Given the description of an element on the screen output the (x, y) to click on. 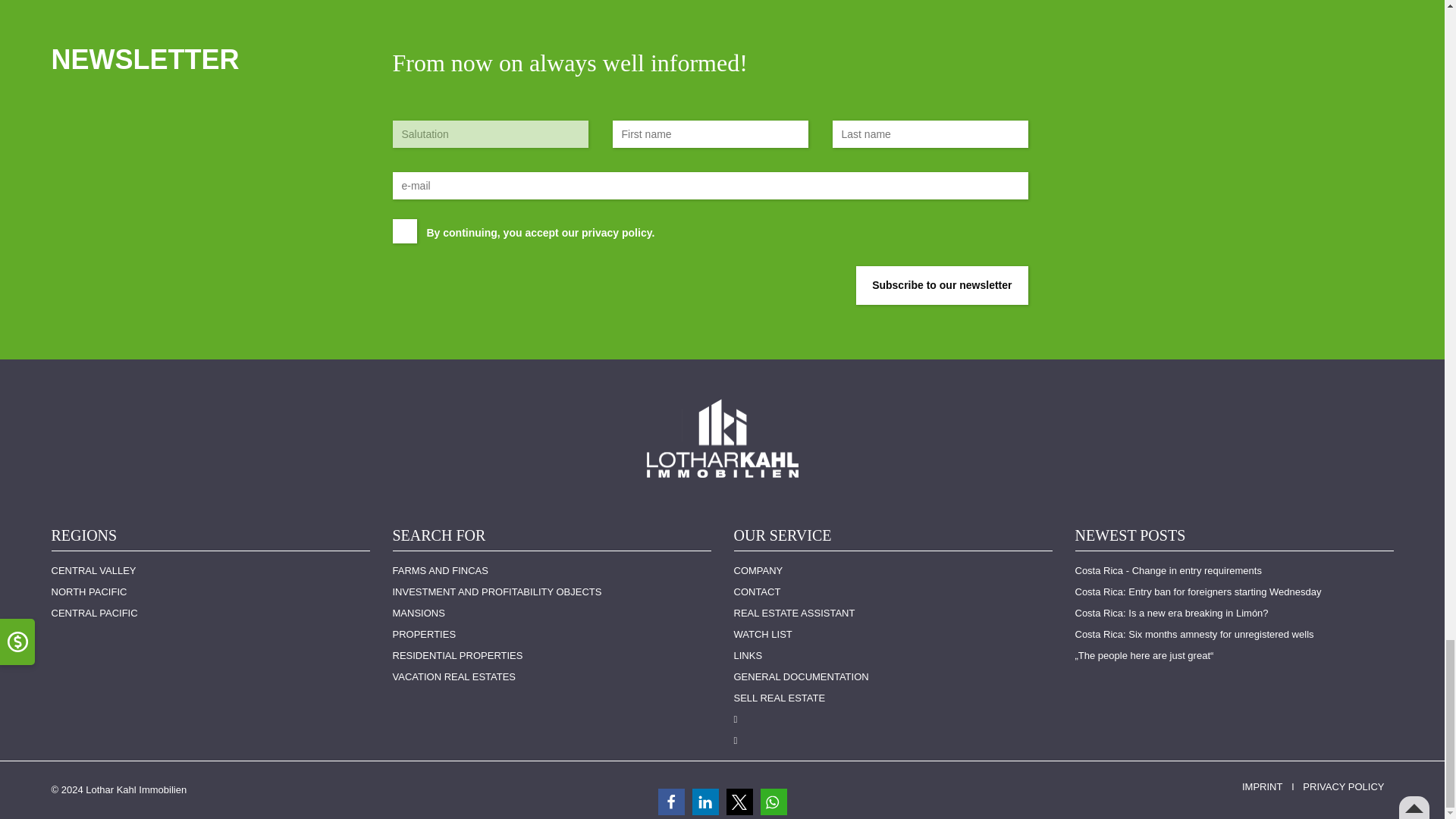
COMPANY (892, 570)
CENTRAL VALLEY (209, 570)
REAL ESTATE ASSISTANT (892, 613)
WATCH LIST (892, 634)
CENTRAL PACIFIC (209, 613)
MANSIONS (552, 613)
CONTACT (892, 591)
Costa Rica - Change in entry requirements (1234, 570)
RESIDENTIAL PROPERTIES (552, 655)
NORTH PACIFIC (209, 591)
